Given the description of an element on the screen output the (x, y) to click on. 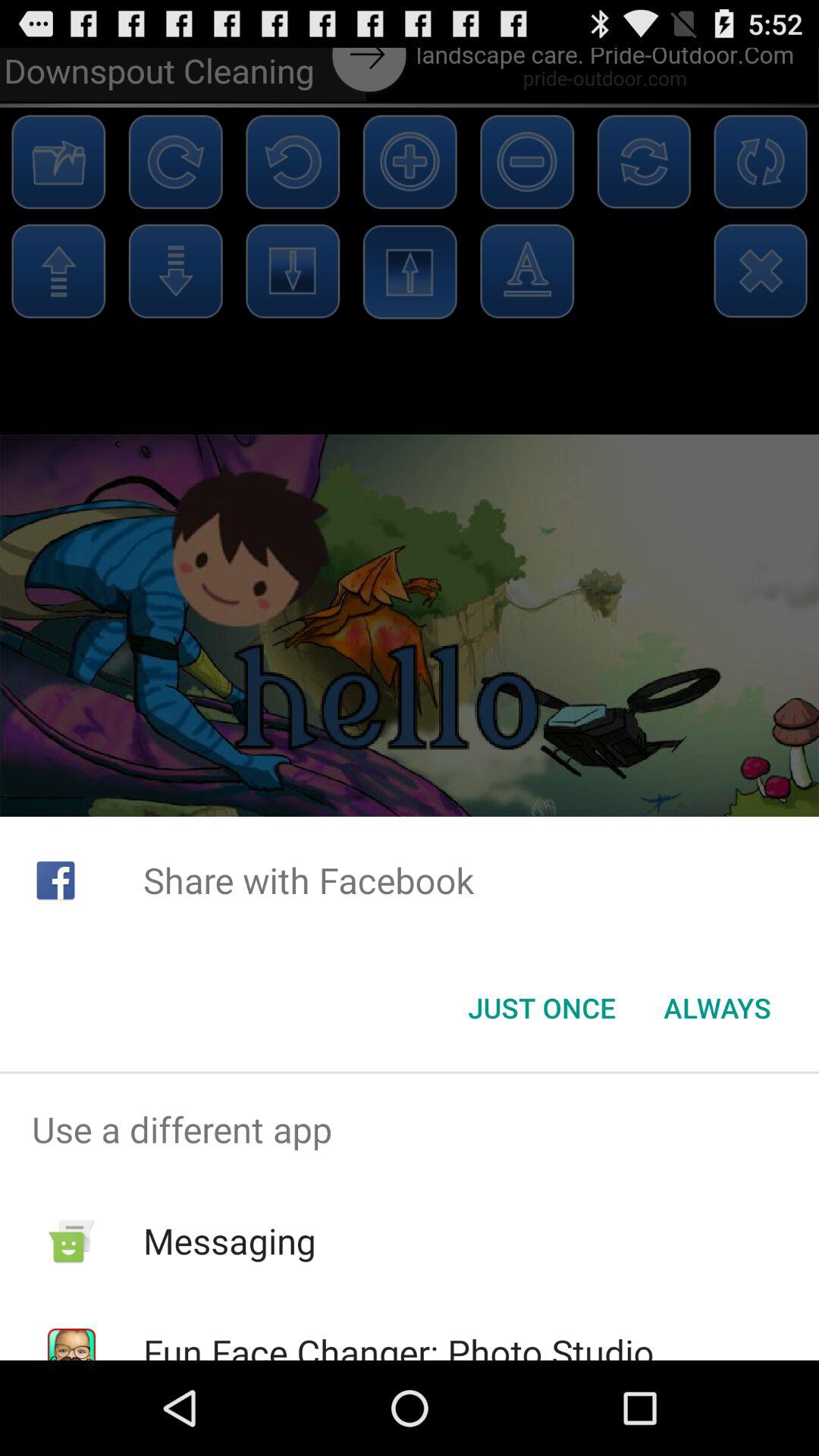
tap always item (717, 1007)
